Given the description of an element on the screen output the (x, y) to click on. 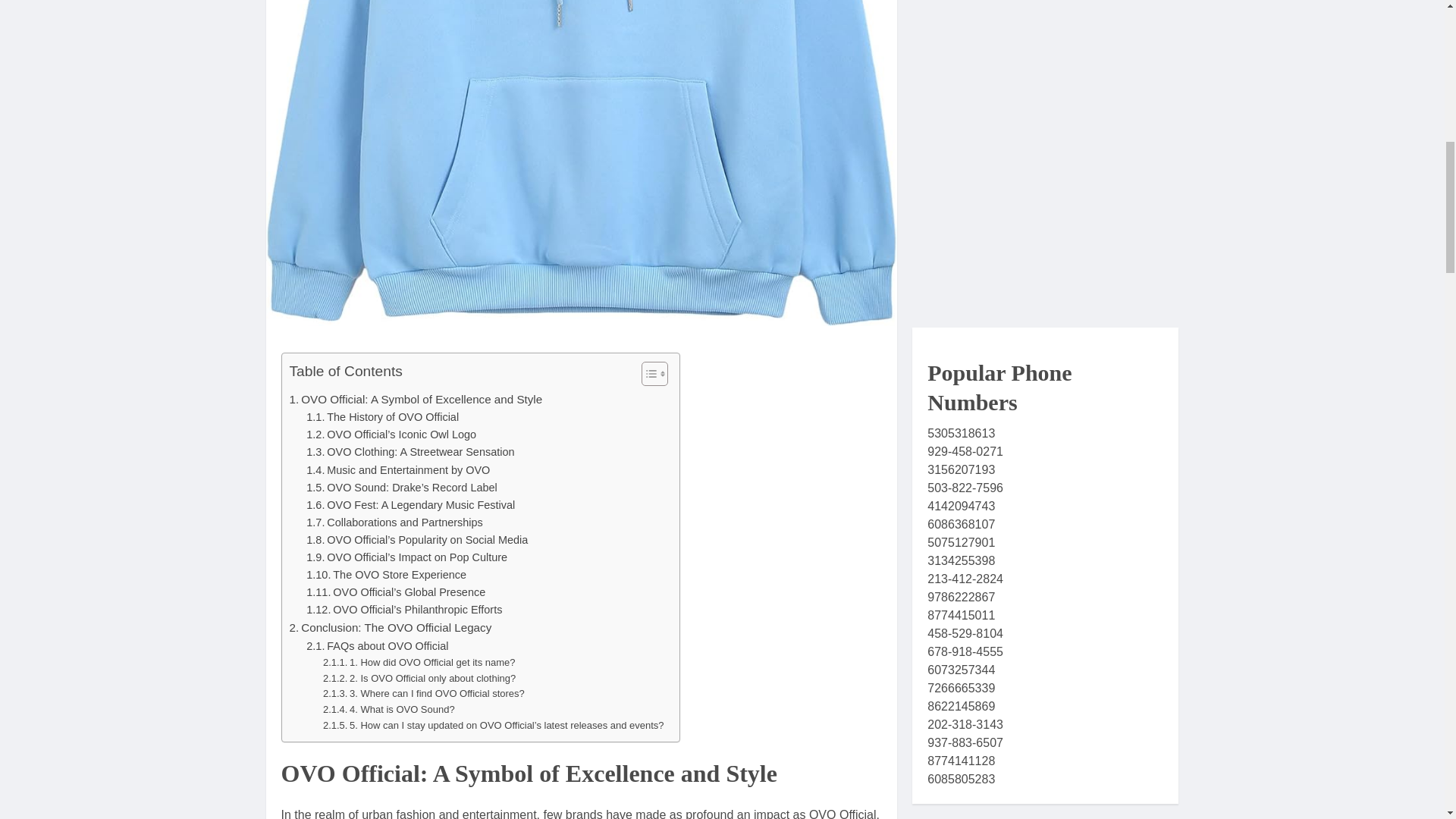
OVO Official: A Symbol of Excellence and Style (416, 399)
FAQs about OVO Official (376, 646)
Conclusion: The OVO Official Legacy (390, 628)
FAQs about OVO Official (376, 646)
Collaborations and Partnerships (393, 522)
The History of OVO Official (381, 416)
Music and Entertainment by OVO (397, 470)
OVO Fest: A Legendary Music Festival (410, 505)
Music and Entertainment by OVO (397, 470)
OVO Official: A Symbol of Excellence and Style (416, 399)
OVO Clothing: A Streetwear Sensation (409, 452)
The OVO Store Experience (385, 574)
OVO Clothing: A Streetwear Sensation (409, 452)
The History of OVO Official (381, 416)
Collaborations and Partnerships (393, 522)
